Given the description of an element on the screen output the (x, y) to click on. 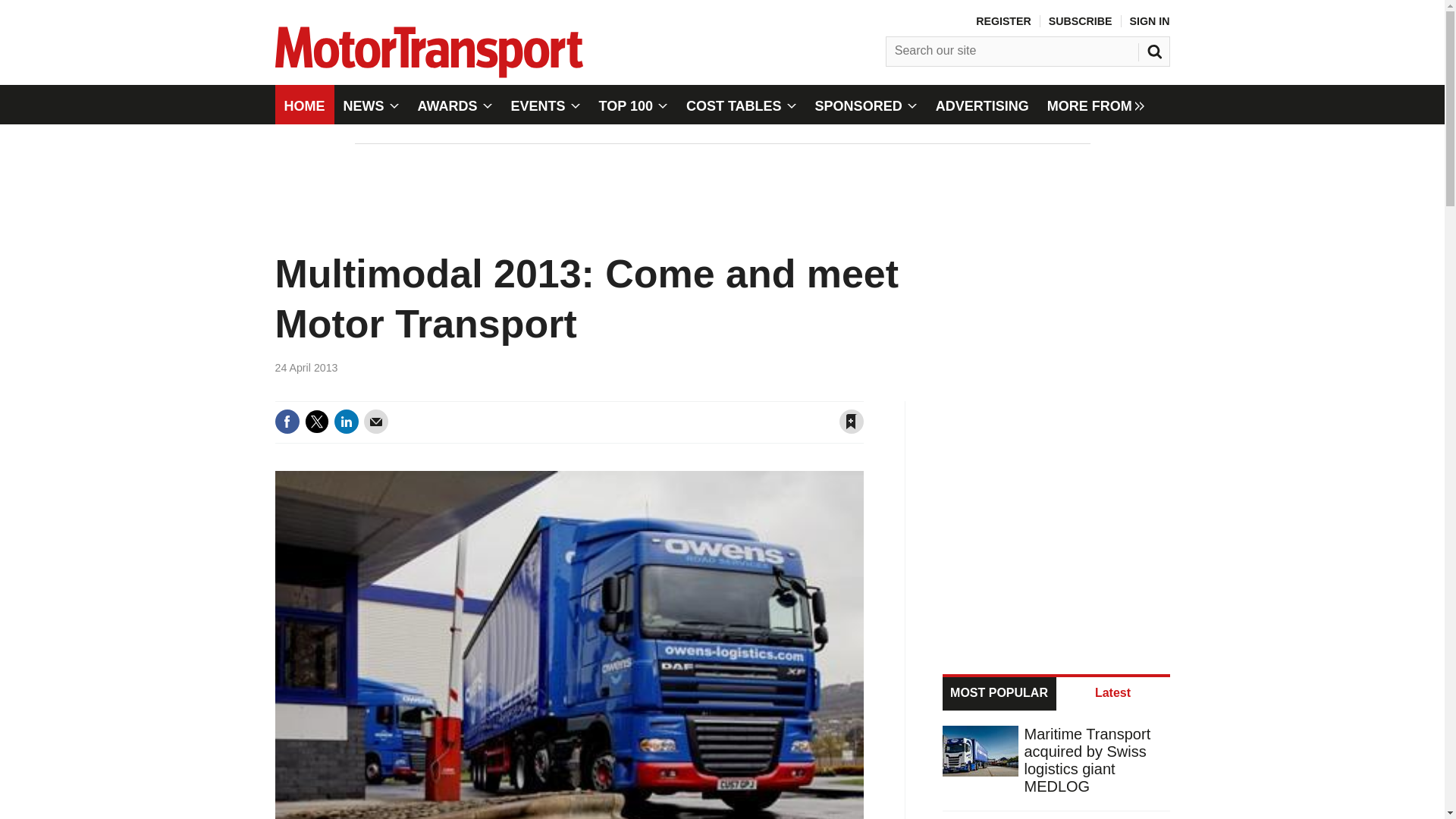
Share this on Linked in (345, 421)
Site name (428, 73)
REGISTER (1002, 21)
SIGN IN (1149, 21)
SEARCH (1156, 48)
Share this on Twitter (316, 421)
Email this article (376, 421)
Share this on Facebook (286, 421)
SUBSCRIBE (1080, 21)
